Given the description of an element on the screen output the (x, y) to click on. 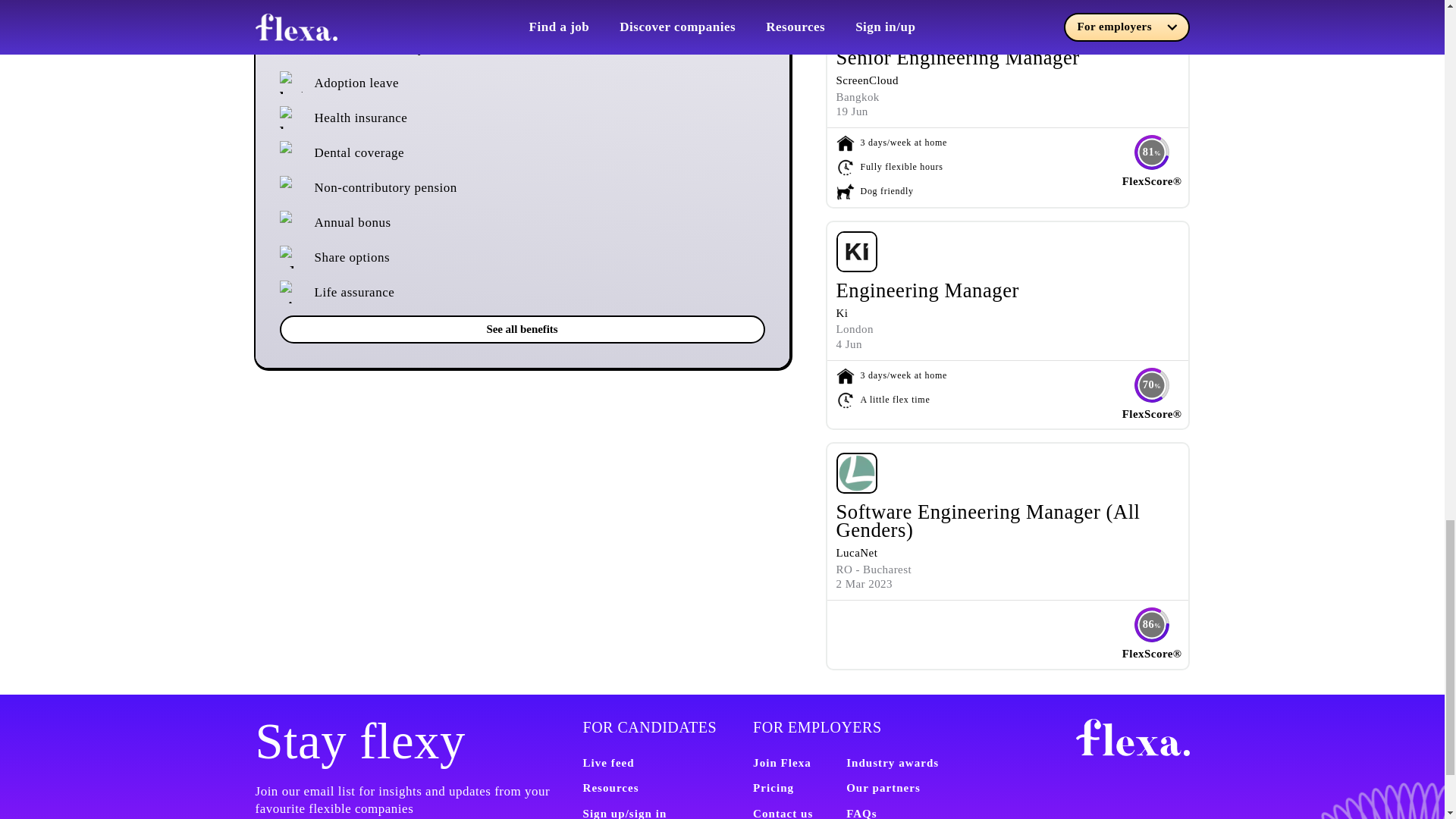
Pricing (772, 787)
Live feed (607, 762)
See all benefits (521, 329)
FAQs (861, 813)
Ki (841, 313)
LucaNet (856, 552)
Senior Engineering Manager (956, 56)
Resources (610, 787)
Contact us (782, 813)
Our partners (882, 787)
